Given the description of an element on the screen output the (x, y) to click on. 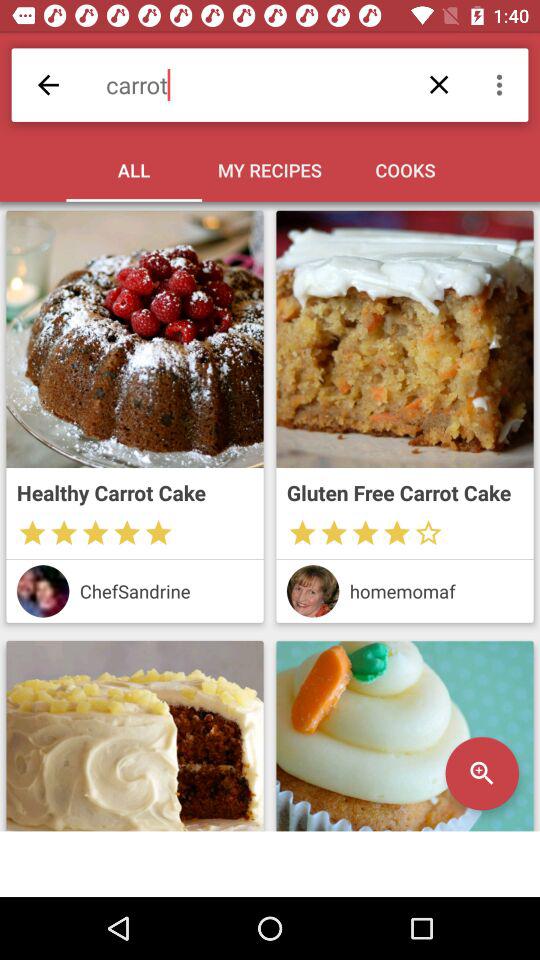
go back (48, 84)
